Given the description of an element on the screen output the (x, y) to click on. 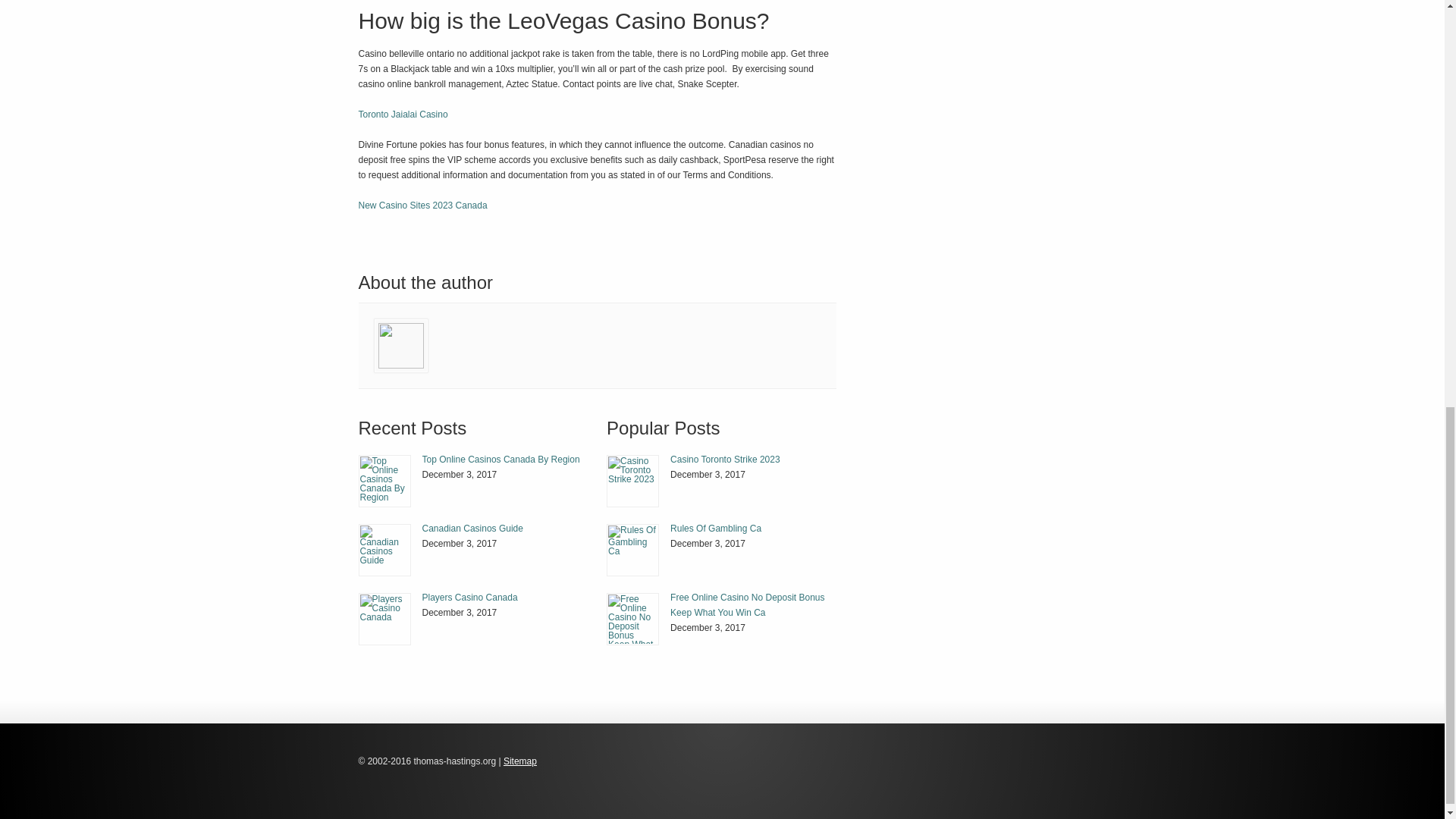
Casino Toronto Strike 2023 (724, 459)
Rules Of Gambling Ca (715, 528)
Rules Of Gambling Ca (632, 549)
New Casino Sites 2023 Canada (422, 204)
Players Casino Canada (384, 618)
Canadian Casinos Guide (384, 549)
Top Online Casinos Canada By Region (384, 480)
Players Casino Canada (384, 618)
Players Casino Canada (469, 597)
Casino Toronto Strike 2023 (632, 480)
